Given the description of an element on the screen output the (x, y) to click on. 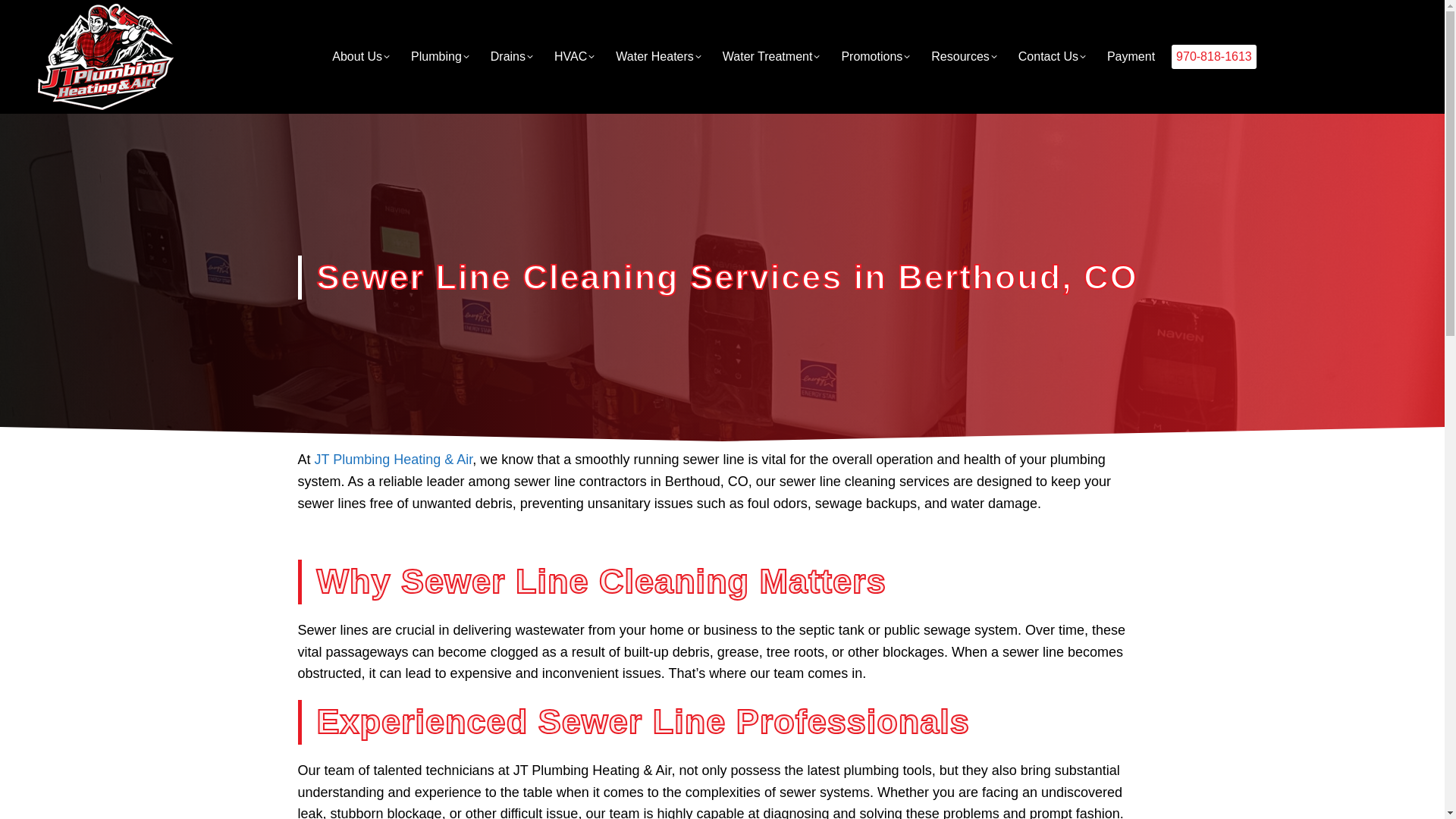
HVAC (574, 56)
Plumbing Service (440, 56)
Drains (511, 56)
About JT Plumbing Services LLC (360, 56)
Plumbing (440, 56)
About Us (360, 56)
